Given the description of an element on the screen output the (x, y) to click on. 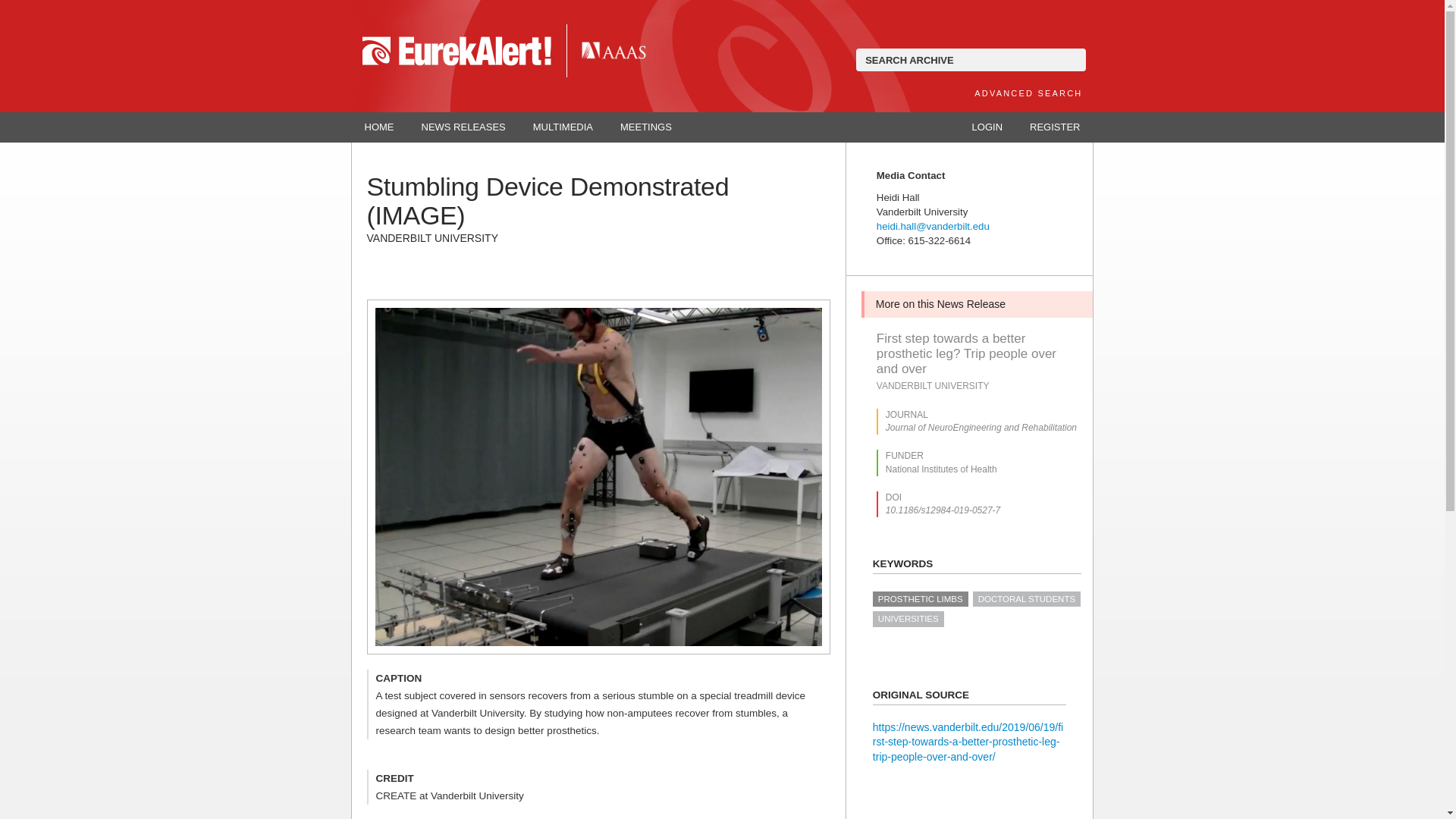
NEWS RELEASES (463, 127)
ADVANCED SEARCH (1027, 92)
MULTIMEDIA (563, 127)
DOCTORAL STUDENTS (1026, 598)
REGISTER (1054, 127)
MEETINGS (646, 127)
HOME (378, 127)
PROSTHETIC LIMBS (920, 598)
LOGIN (987, 127)
UNIVERSITIES (907, 618)
